Given the description of an element on the screen output the (x, y) to click on. 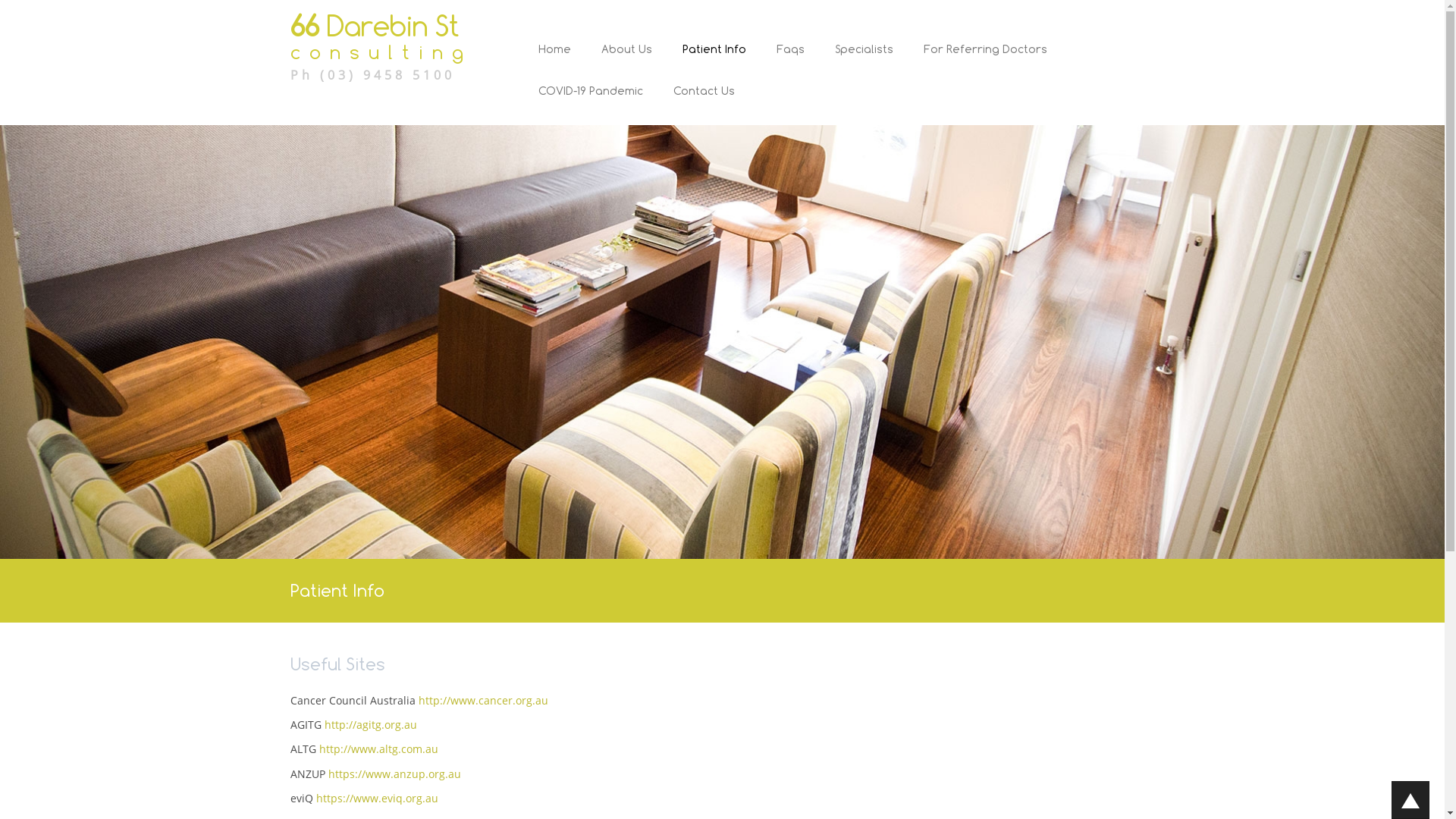
https://www.anzup.org.au Element type: text (393, 773)
http://agitg.org.au Element type: text (370, 724)
COVID-19 Pandemic Element type: text (590, 104)
http://www.cancer.org.au Element type: text (483, 700)
66 Darebin St
consulting
Ph (03) 9458 5100 Element type: text (389, 46)
Specialists Element type: text (863, 62)
Home Element type: text (554, 62)
Faqs Element type: text (790, 62)
Patient Info Element type: text (714, 62)
About Us Element type: text (626, 62)
For Referring Doctors Element type: text (985, 62)
Contact Us Element type: text (696, 104)
http://www.altg.com.au Element type: text (377, 748)
https://www.eviq.org.au Element type: text (376, 797)
